Given the description of an element on the screen output the (x, y) to click on. 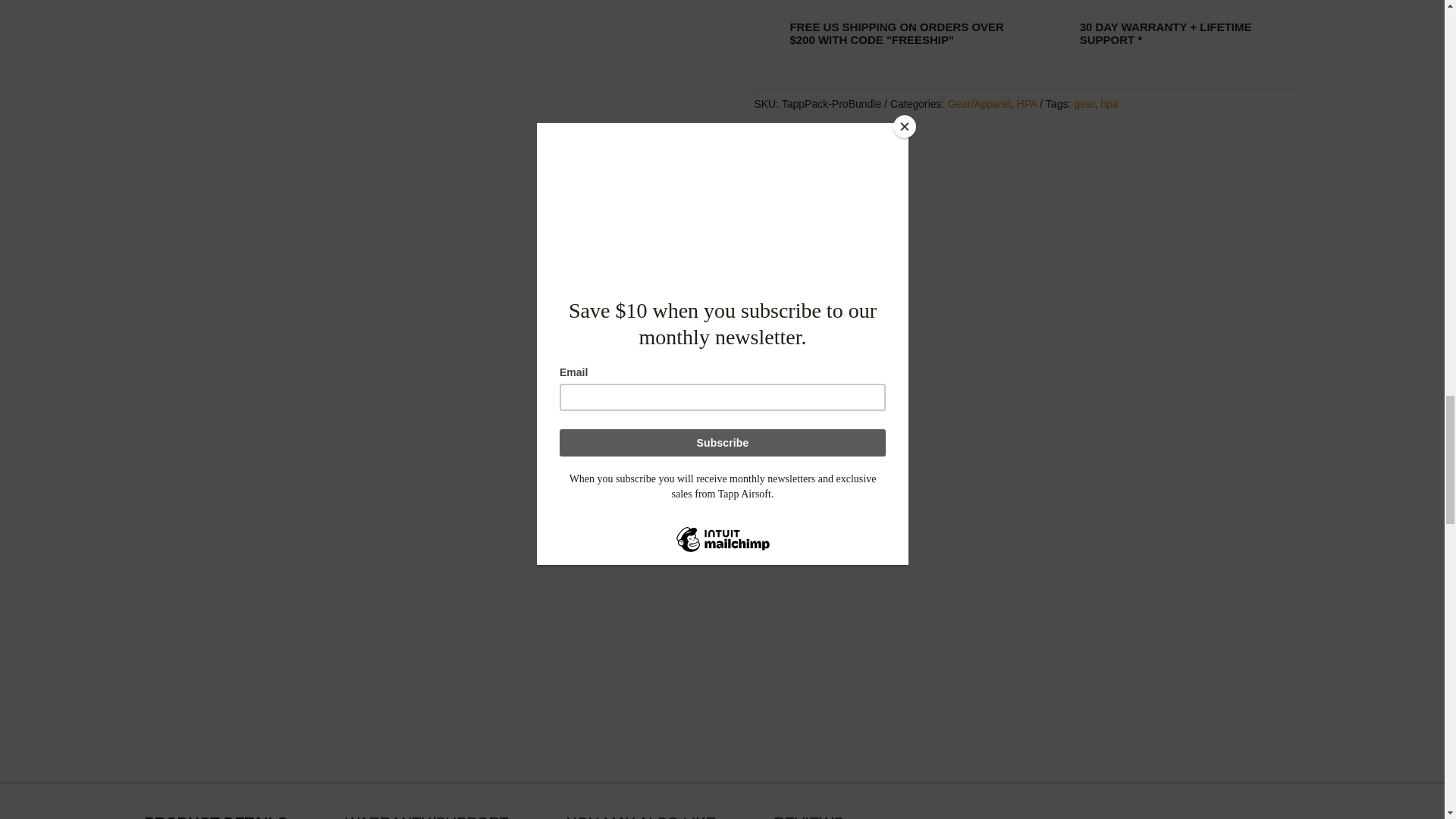
gear (1084, 103)
HPA (1026, 103)
hpa (1109, 103)
